Given the description of an element on the screen output the (x, y) to click on. 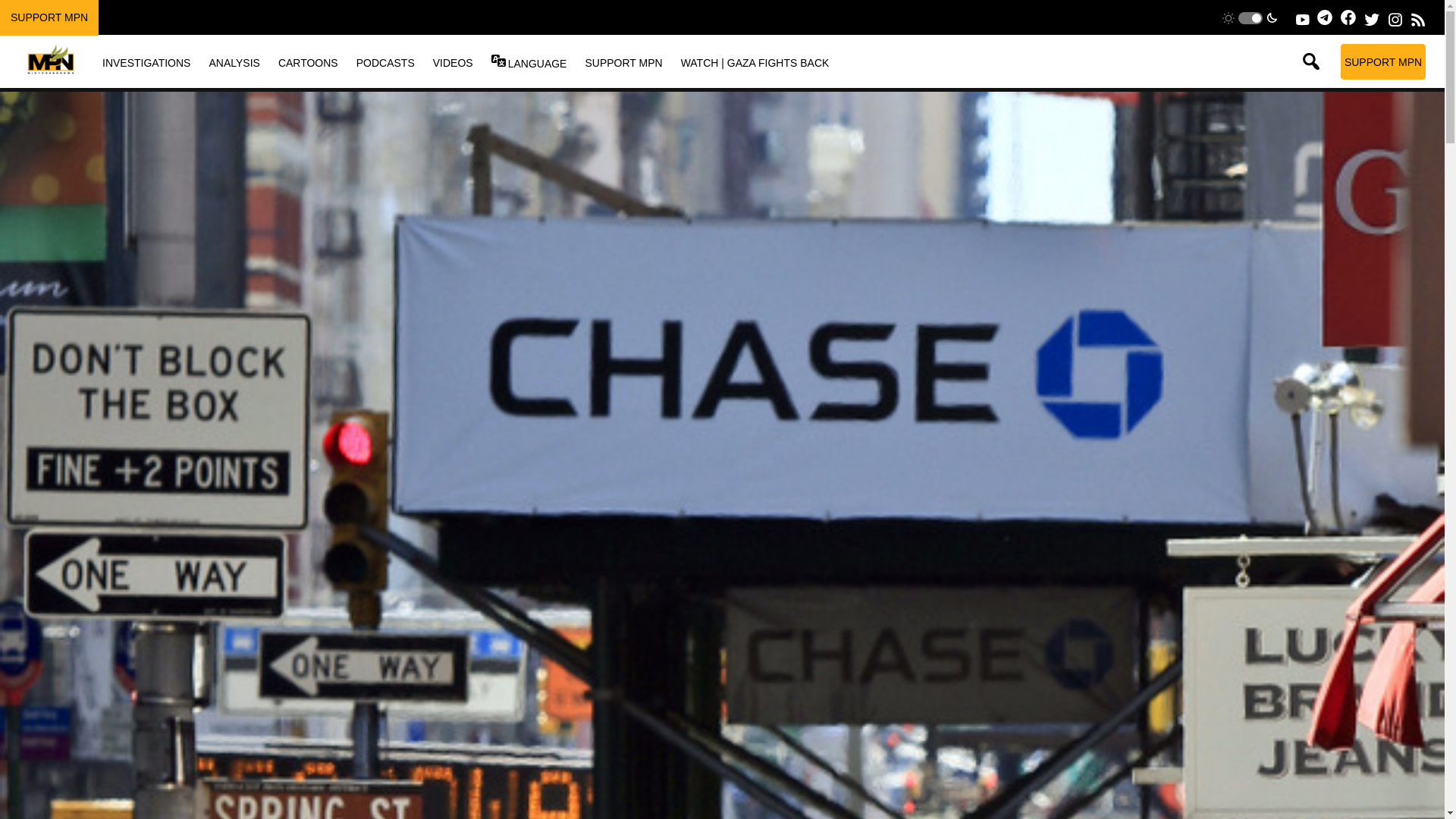
INVESTIGATIONS (145, 62)
VIDEOS (452, 62)
SUPPORT MPN (48, 17)
LANGUAGE (536, 63)
SUPPORT MPN (623, 62)
CARTOONS (307, 62)
ANALYSIS (233, 62)
PODCASTS (385, 62)
SUPPORT MPN (1382, 61)
